Given the description of an element on the screen output the (x, y) to click on. 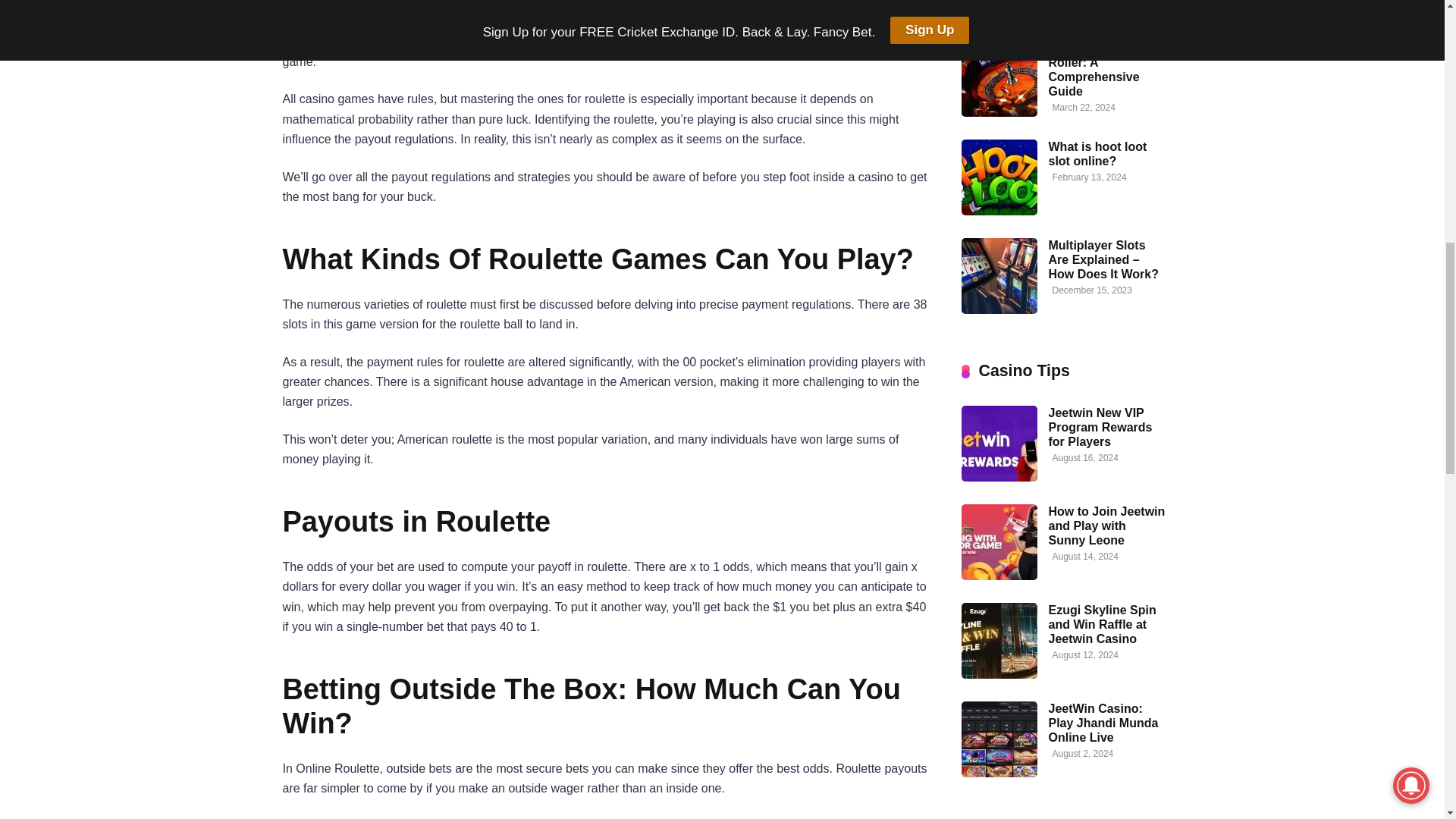
Online Casino High Roller: A Comprehensive Guide (998, 112)
How to Join Jeetwin and Play with Sunny Leone (1106, 526)
Online Casino High Roller: A Comprehensive Guide (1104, 69)
Jeetwin New VIP Program Rewards for Players (998, 477)
What is hoot loot slot online? (1097, 153)
What is hoot loot slot online? (998, 210)
Jeetwin New VIP Program Rewards for Players (1099, 426)
How to Join Jeetwin and Play with Sunny Leone (998, 575)
